Given the description of an element on the screen output the (x, y) to click on. 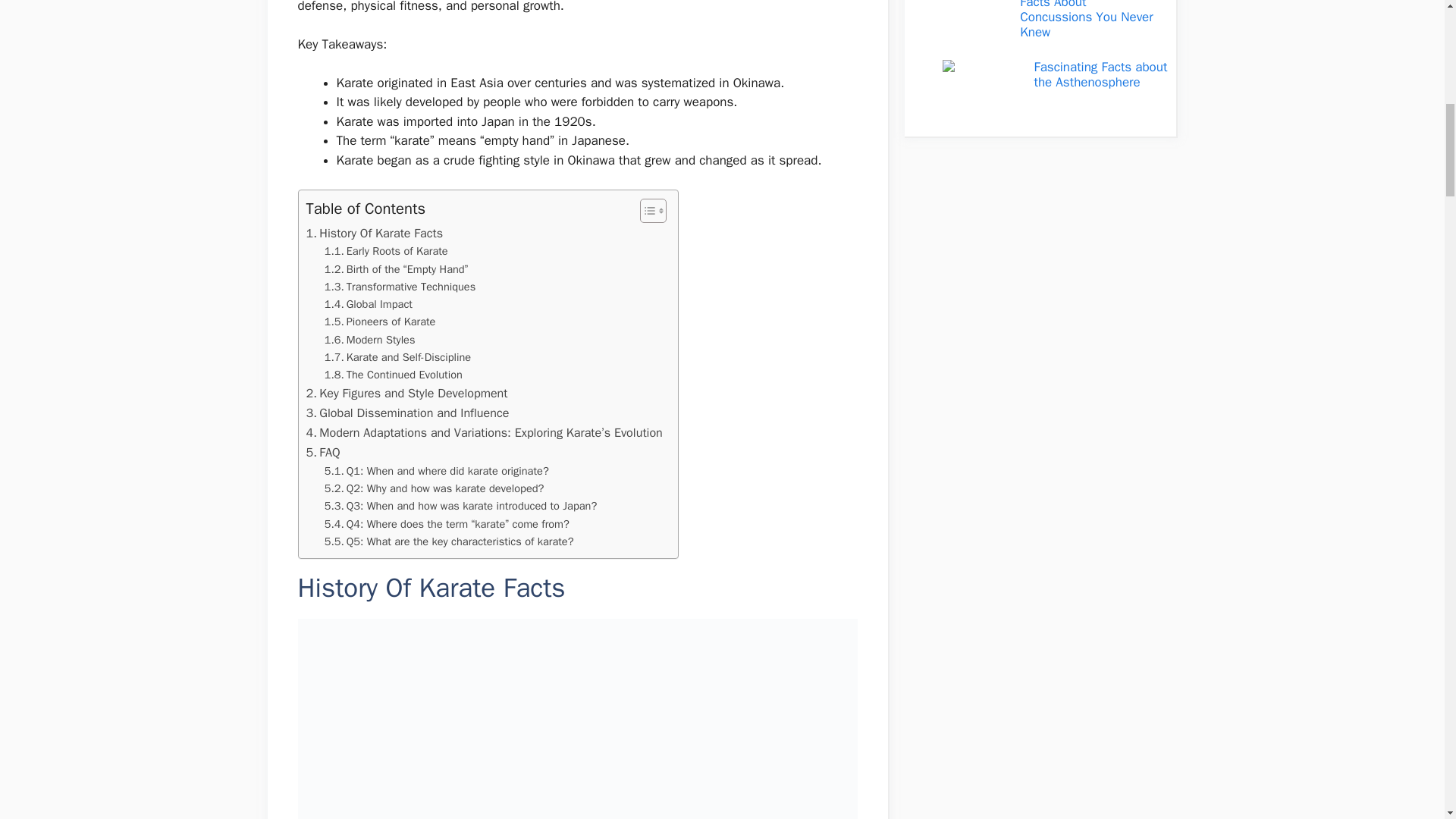
History Of Karate Facts (374, 233)
Early Roots of Karate (386, 251)
The Continued Evolution (393, 375)
Karate and Self-Discipline (397, 357)
History Of Karate Facts (374, 233)
Pioneers of Karate (379, 321)
Global Impact (368, 303)
Key Figures and Style Development (406, 393)
Early Roots of Karate (386, 251)
Modern Styles (369, 339)
Transformative Techniques (400, 286)
